Given the description of an element on the screen output the (x, y) to click on. 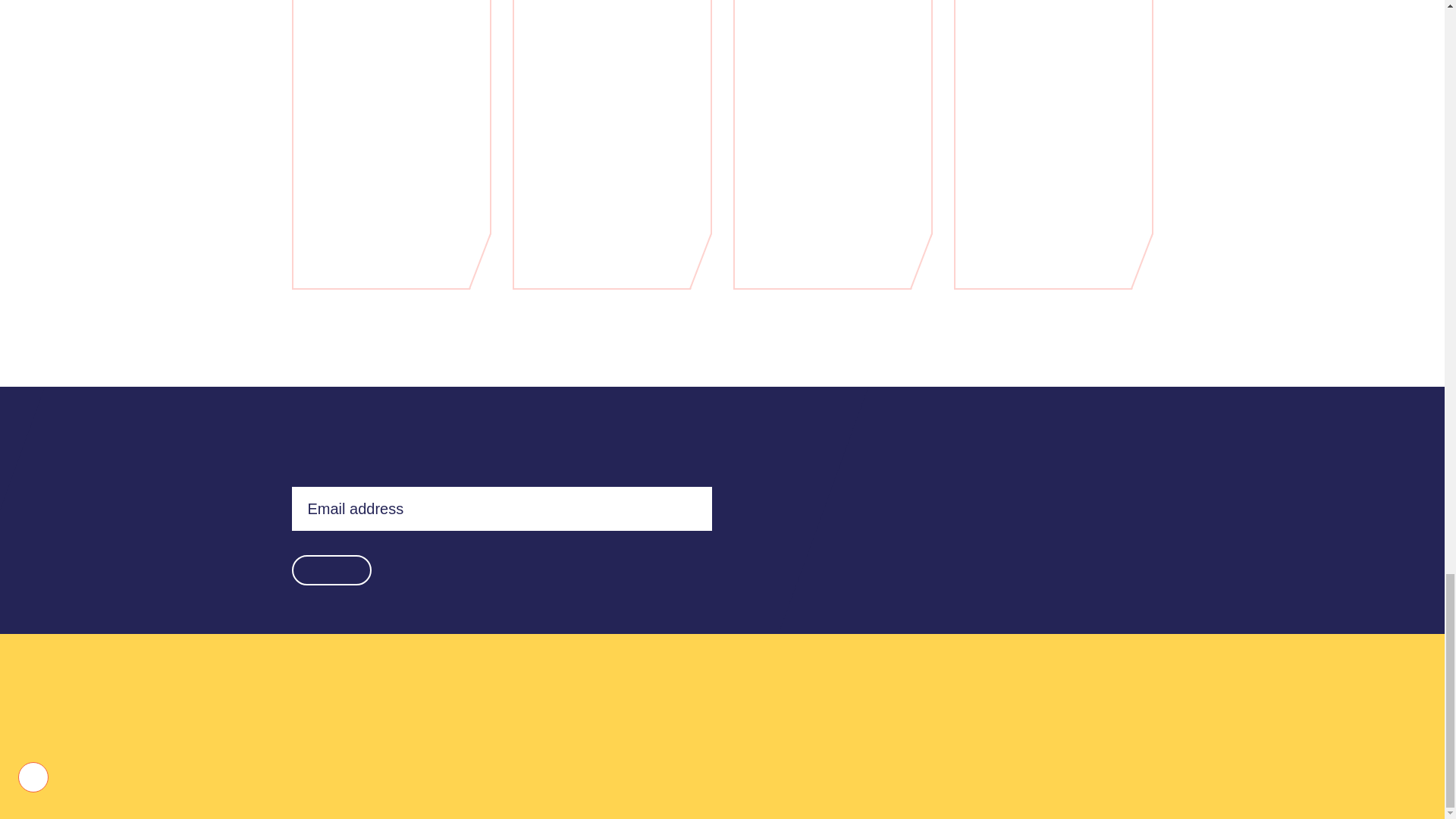
Facebook (883, 718)
Linkedin (850, 718)
Return to the homepage (1056, 706)
Sign up (331, 570)
Twitter (815, 719)
